Given the description of an element on the screen output the (x, y) to click on. 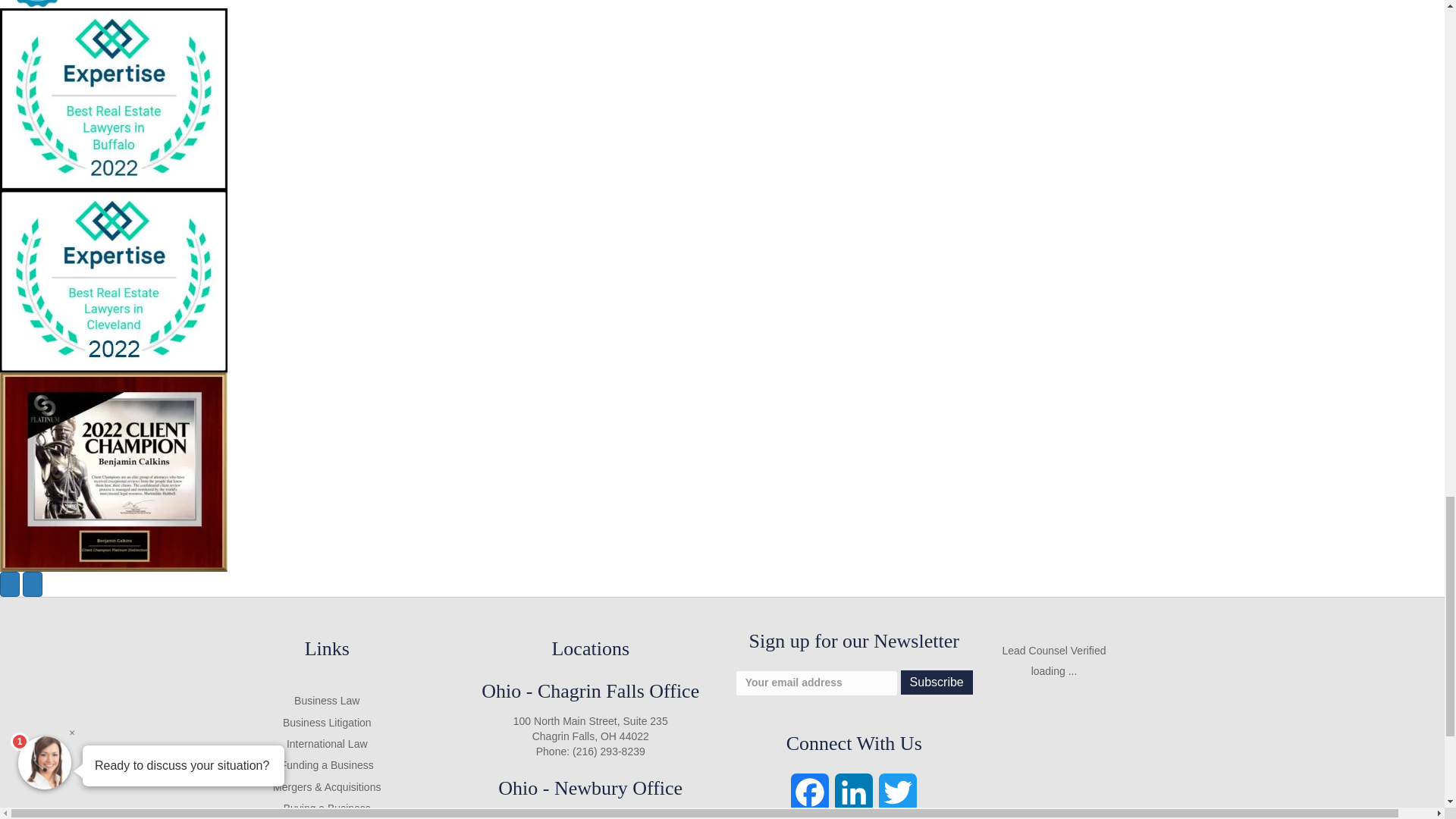
Subscribe (936, 681)
LinkedIn (853, 796)
Twitter (898, 796)
Facebook (809, 796)
